Given the description of an element on the screen output the (x, y) to click on. 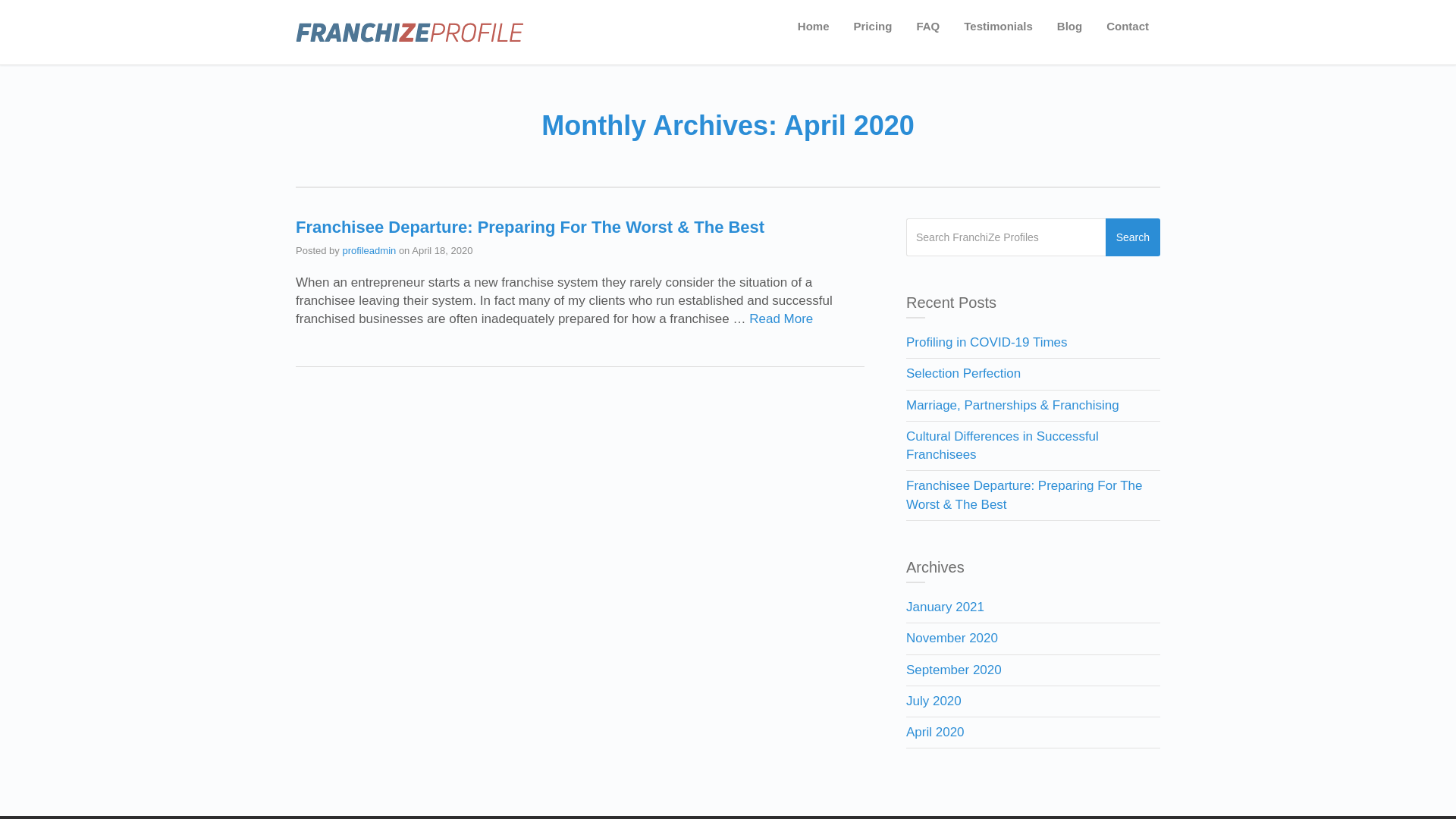
Franchisee Departure: Preparing For The Worst & The Best Element type: text (529, 226)
Selection Perfection Element type: text (963, 373)
Read More Element type: text (780, 318)
profileadmin Element type: text (368, 250)
April 2020 Element type: text (935, 731)
Pricing Element type: text (872, 26)
September 2020 Element type: text (953, 669)
Profiling in COVID-19 Times Element type: text (986, 342)
Franchisee Departure: Preparing For The Worst & The Best Element type: text (1024, 494)
Blog Element type: text (1069, 26)
November 2020 Element type: text (951, 637)
Marriage, Partnerships & Franchising Element type: text (1012, 405)
Testimonials Element type: text (998, 26)
Contact Element type: text (1127, 26)
January 2021 Element type: text (945, 606)
FAQ Element type: text (927, 26)
Search Element type: text (1132, 237)
Cultural Differences in Successful Franchisees Element type: text (1002, 445)
Home Element type: text (813, 26)
July 2020 Element type: text (933, 700)
